Given the description of an element on the screen output the (x, y) to click on. 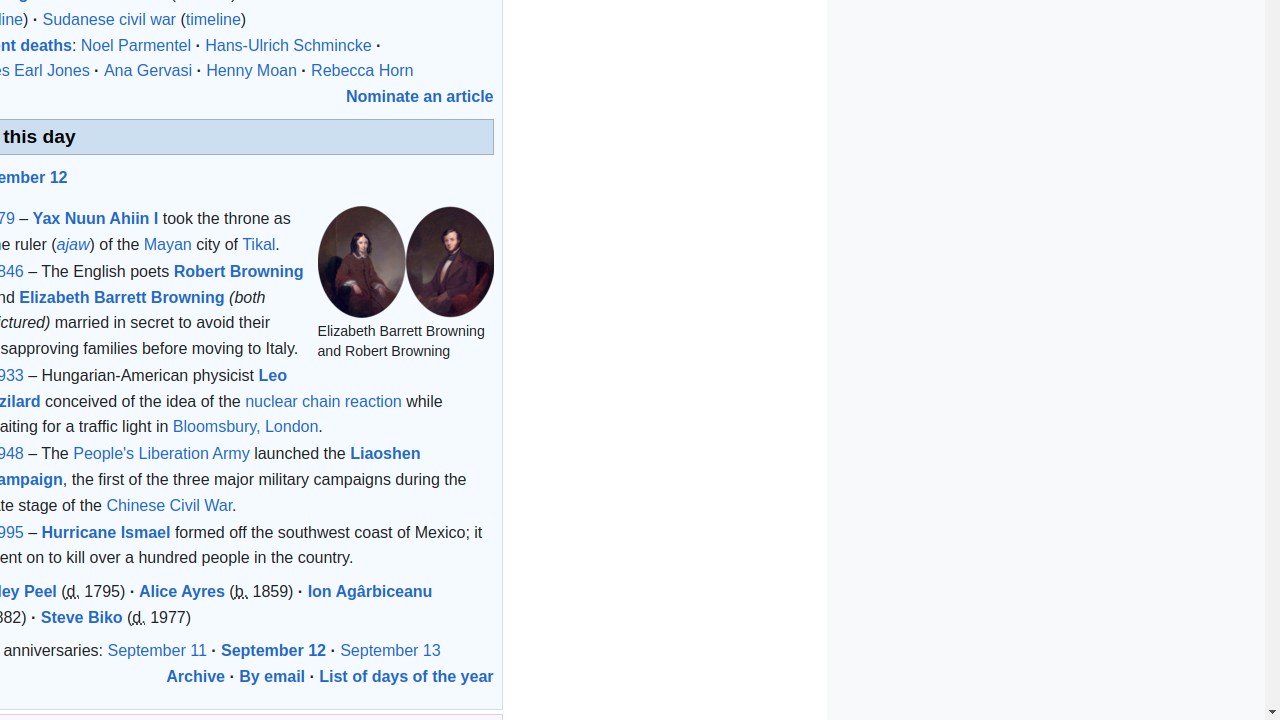
Hans-Ulrich Schmincke Element type: link (288, 45)
September 13 Element type: link (390, 651)
nuclear chain reaction Element type: link (323, 400)
Tikal Element type: link (259, 243)
Ana Gervasi Element type: link (147, 71)
